Given the description of an element on the screen output the (x, y) to click on. 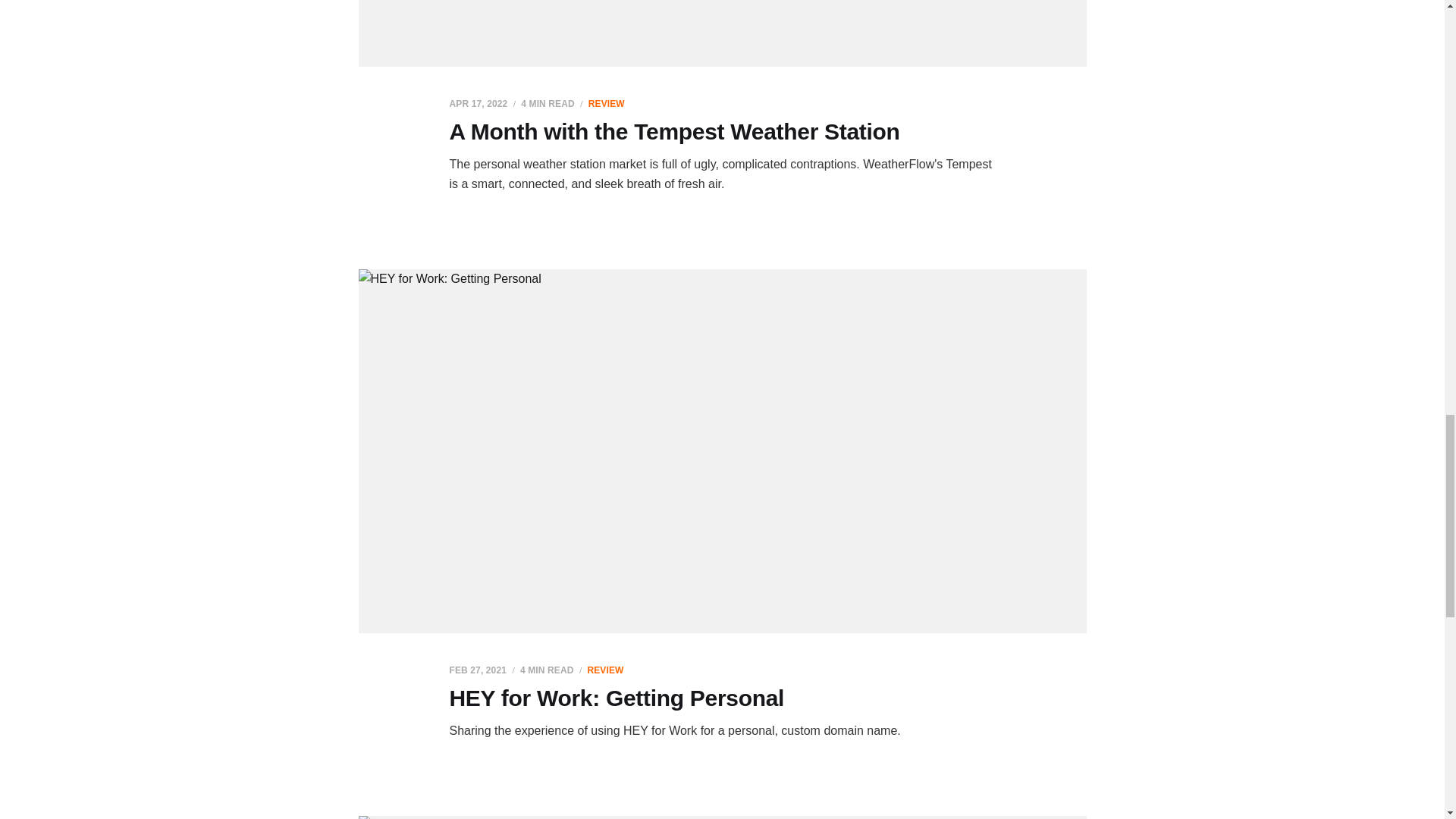
Review (604, 670)
REVIEW (606, 103)
A Month with the Tempest Weather Station (673, 131)
HEY for Work: Getting Personal (616, 697)
Review (606, 103)
REVIEW (604, 670)
